Given the description of an element on the screen output the (x, y) to click on. 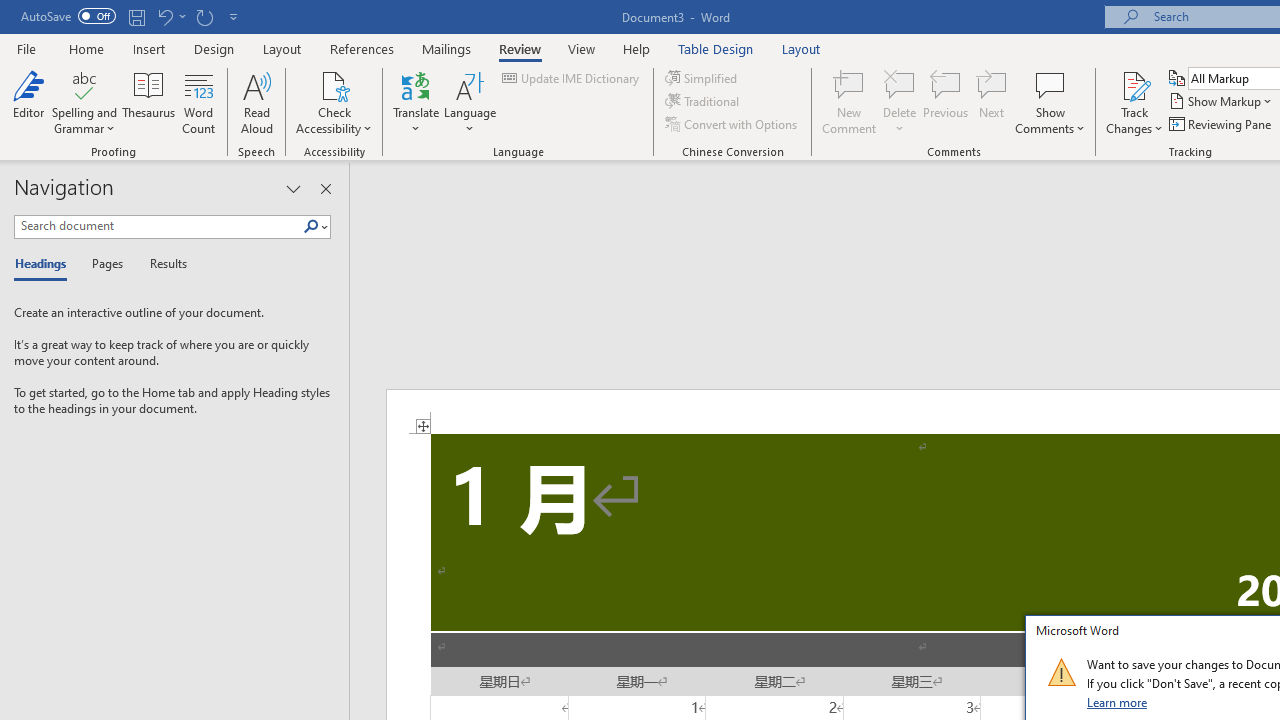
Spelling and Grammar (84, 84)
Word Count (198, 102)
Show Markup (1222, 101)
Language (470, 102)
Show Comments (1050, 102)
Translate (415, 102)
Track Changes (1134, 102)
Traditional (703, 101)
